Given the description of an element on the screen output the (x, y) to click on. 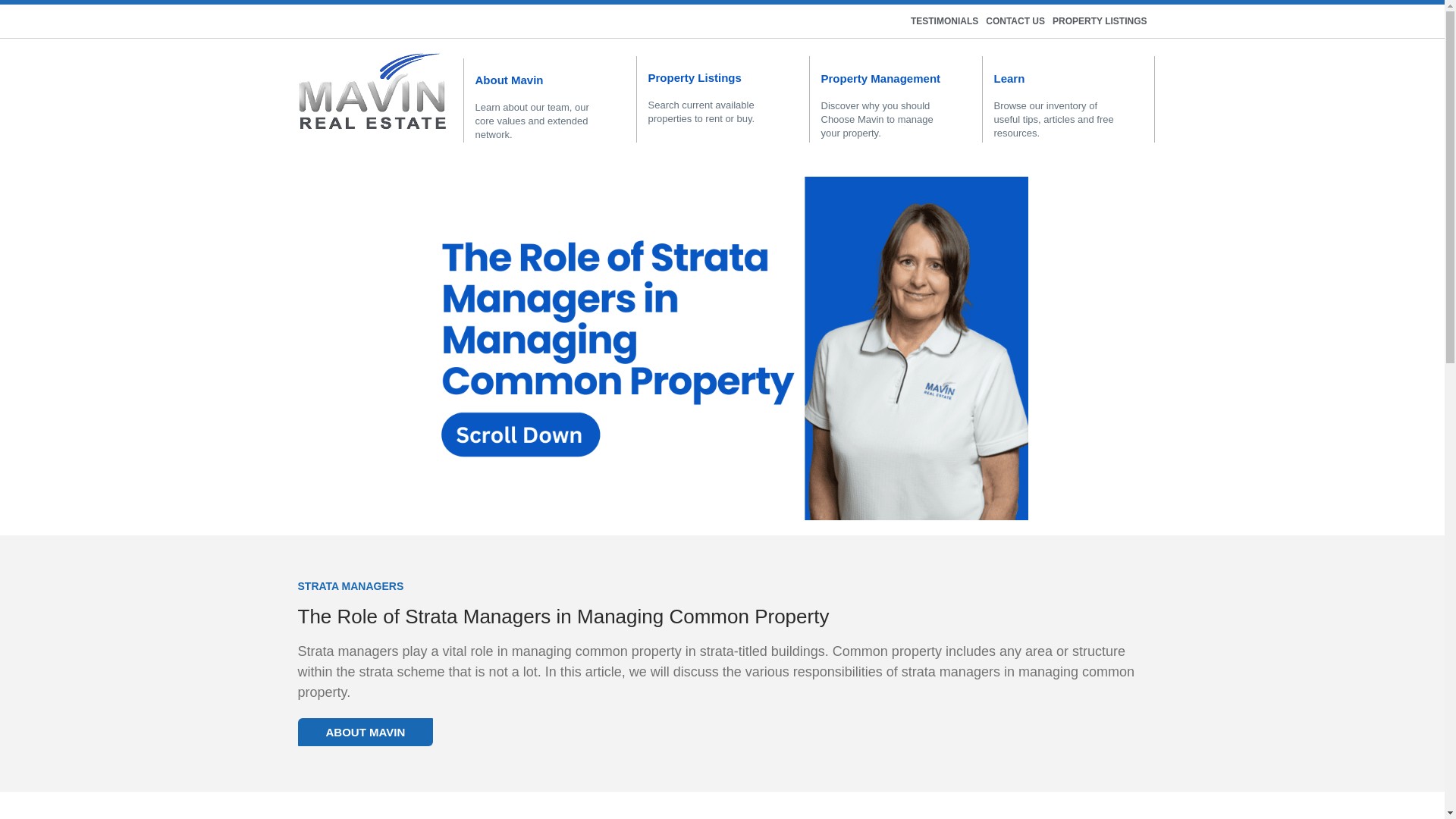
Learn about our team, our core values and extended network. (531, 120)
Property Listings (694, 77)
Property Management (880, 78)
Search current available properties to rent or buy. (700, 111)
ABOUT MAVIN (364, 732)
About Mavin (508, 79)
Learn (1008, 78)
PROPERTY LISTINGS (1099, 20)
CONTACT US (1015, 20)
TESTIMONIALS (944, 20)
